Given the description of an element on the screen output the (x, y) to click on. 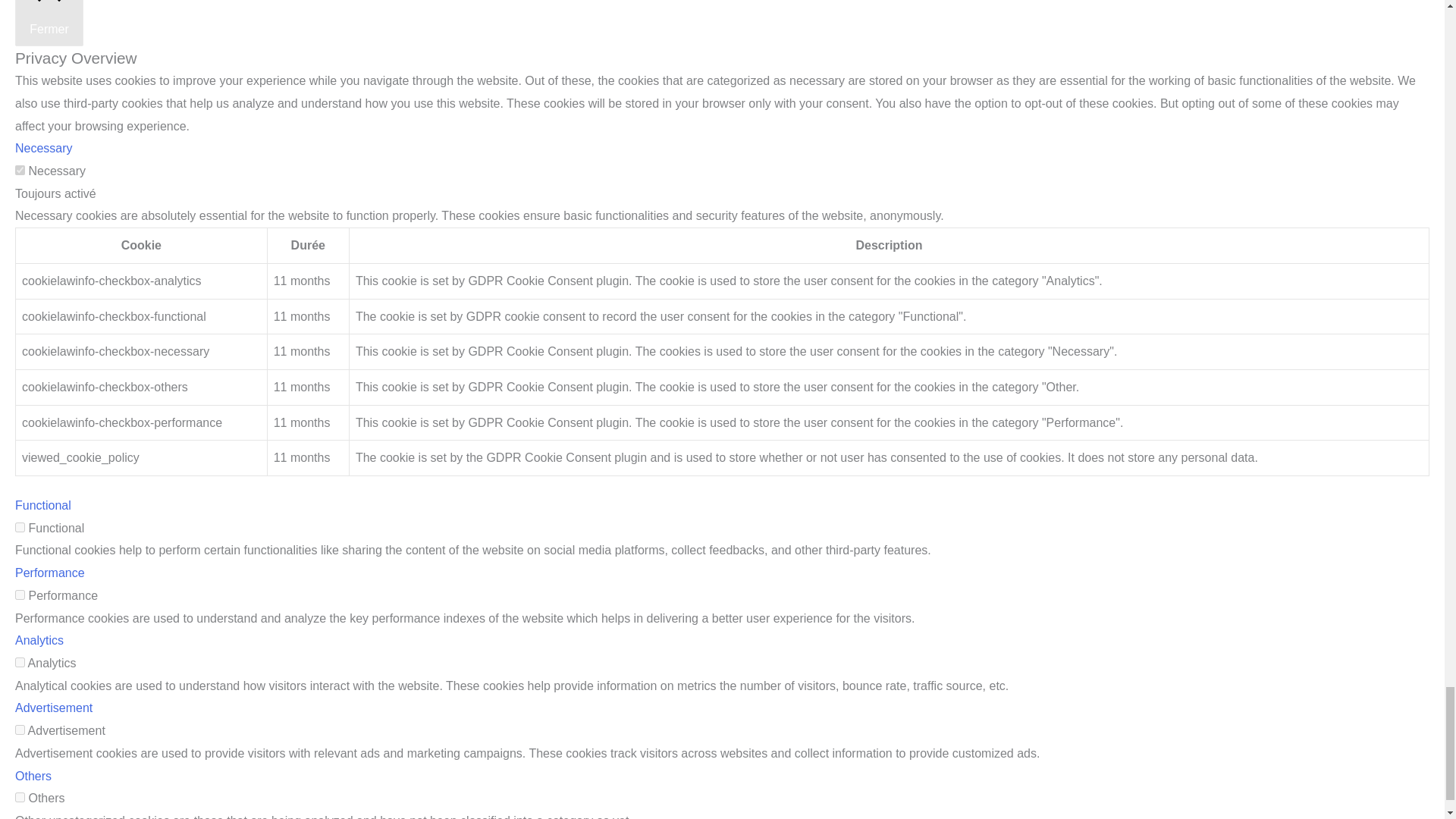
on (19, 662)
on (19, 527)
on (19, 170)
on (19, 797)
on (19, 729)
on (19, 594)
